Given the description of an element on the screen output the (x, y) to click on. 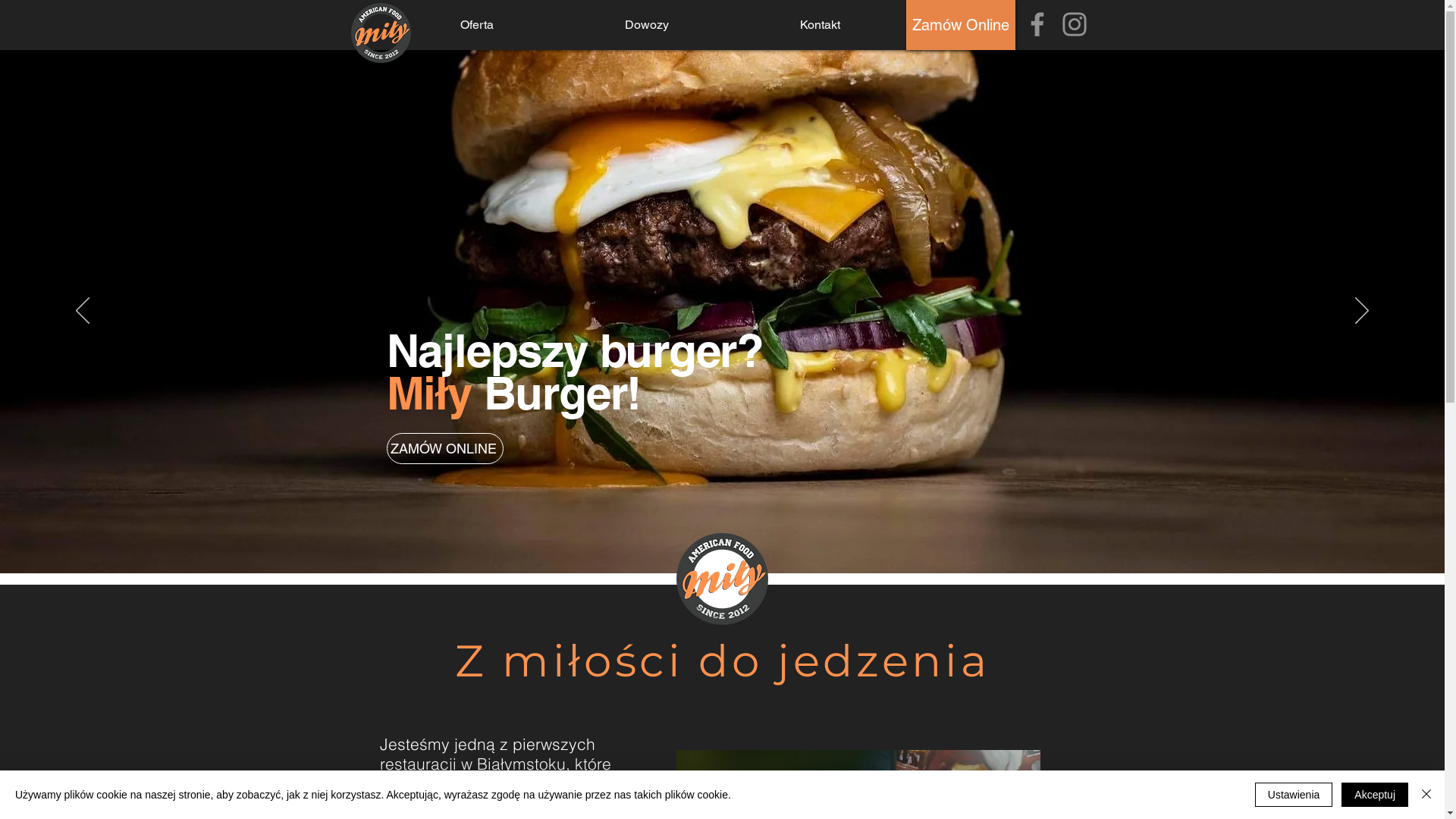
Ustawienia Element type: text (1293, 794)
Oferta Element type: text (476, 24)
Akceptuj Element type: text (1374, 794)
Kontakt Element type: text (819, 24)
Dowozy Element type: text (646, 24)
